Given the description of an element on the screen output the (x, y) to click on. 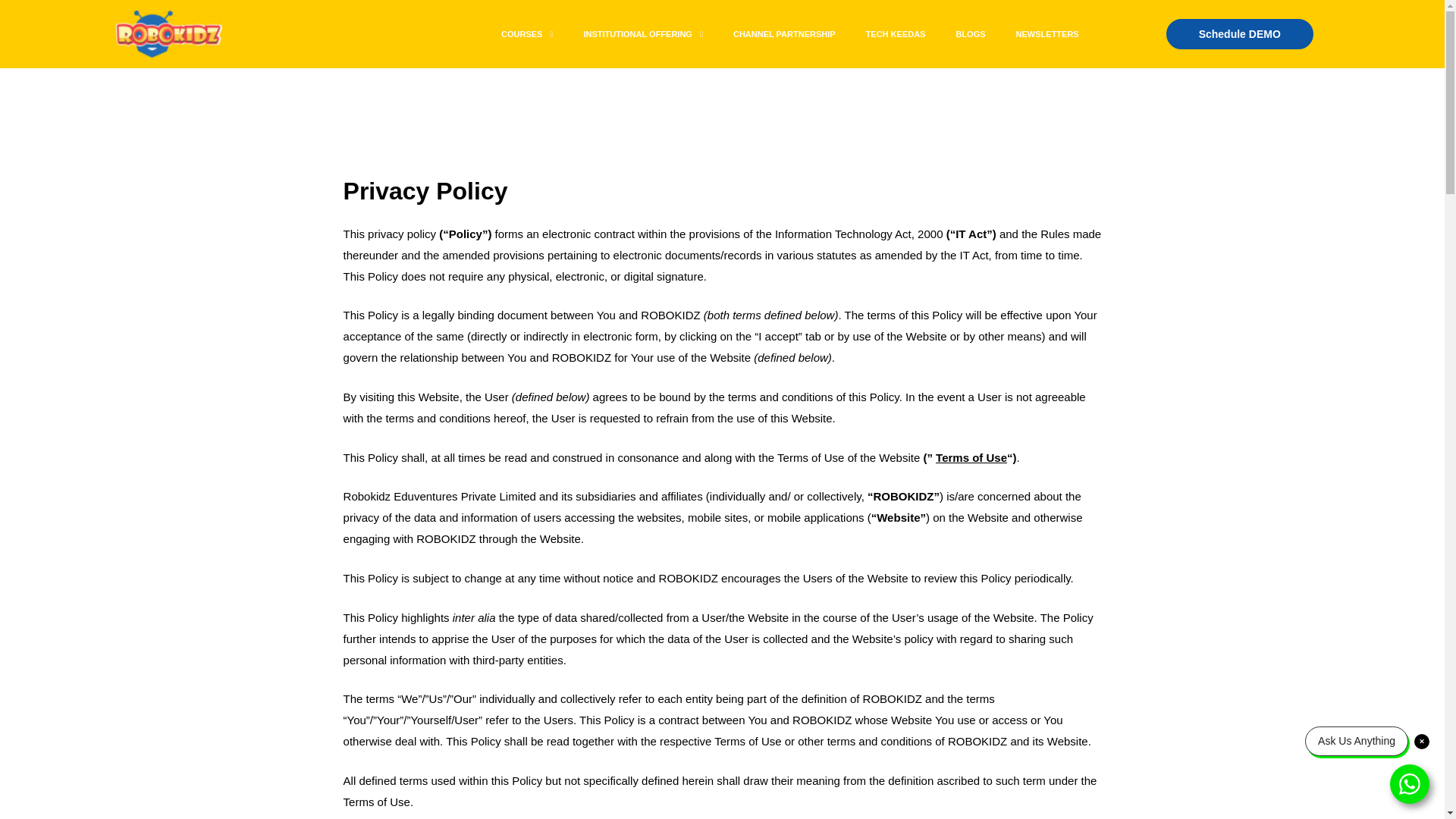
COURSES (526, 33)
INSTITUTIONAL OFFERING (643, 33)
